Given the description of an element on the screen output the (x, y) to click on. 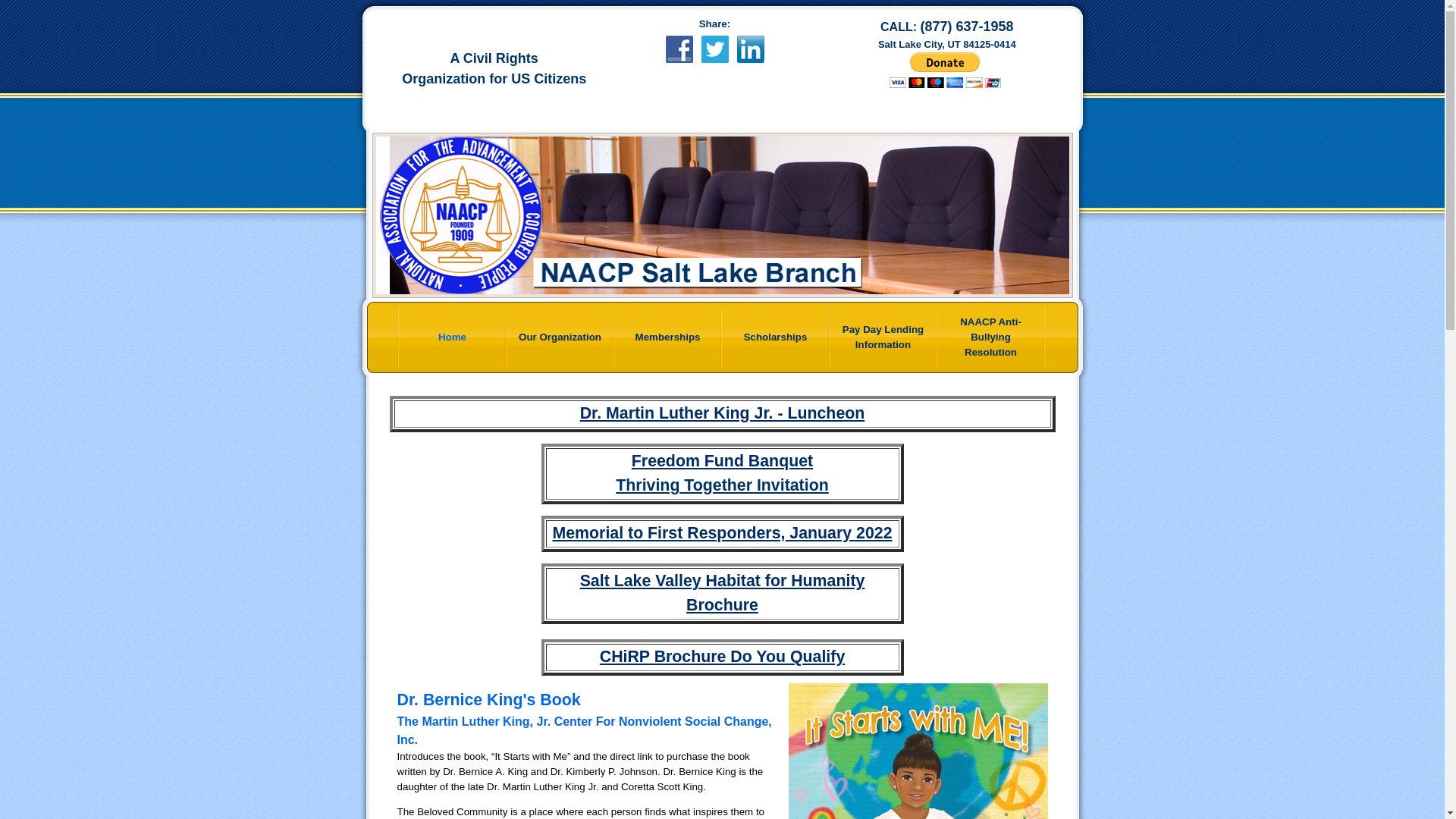
CHiRP Brochure Do You Qualify (722, 656)
Salt Lake Valley Habitat for Humanity Brochure (721, 592)
Pay Day Lending Information (883, 337)
Home (452, 337)
Memberships (668, 337)
It Starts With Me (918, 751)
Thriving Together Invitation (721, 484)
Freedom Fund Banquet (721, 461)
Dr. Martin Luther King Jr. - Luncheon (721, 413)
NAACP Salt Lake Branch (721, 215)
